Given the description of an element on the screen output the (x, y) to click on. 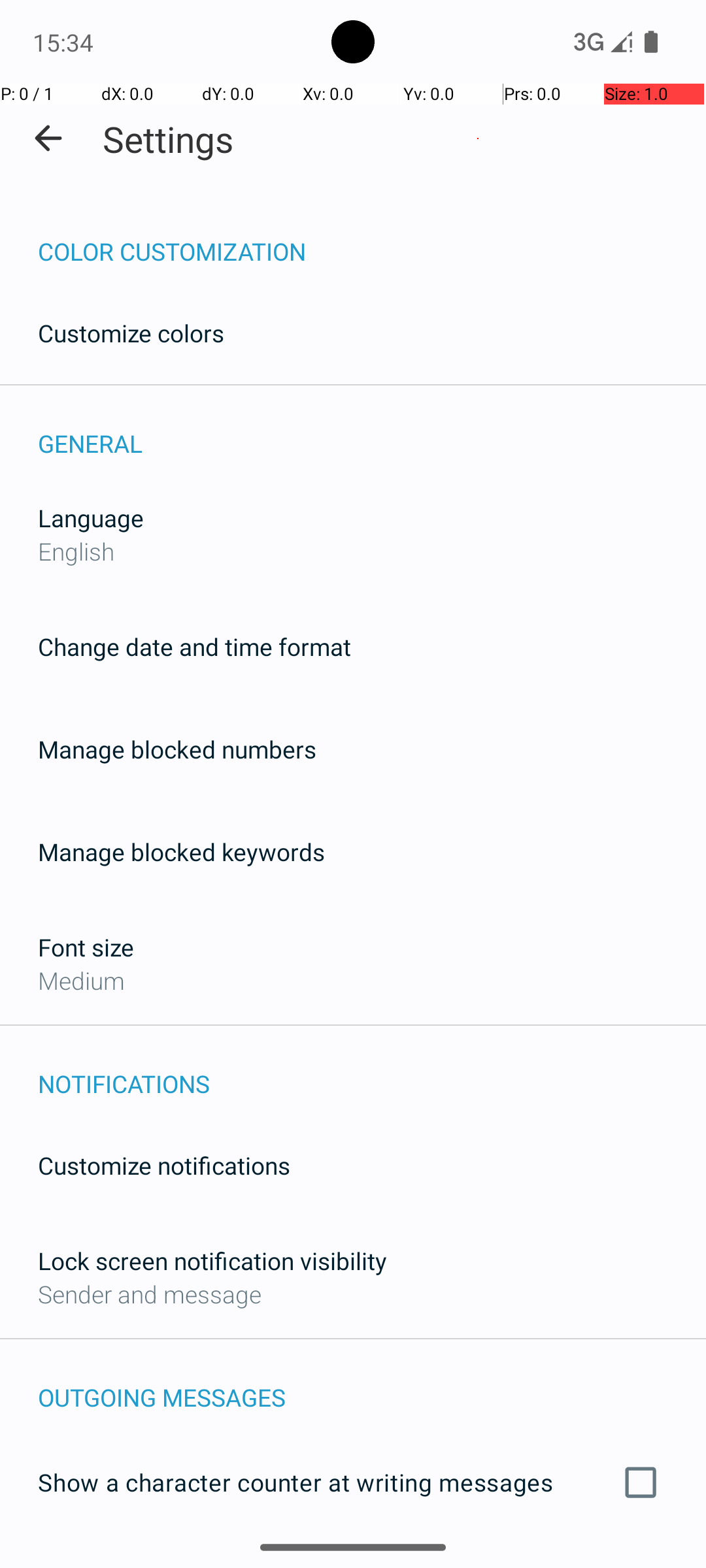
NOTIFICATIONS Element type: android.widget.TextView (371, 1069)
OUTGOING MESSAGES Element type: android.widget.TextView (371, 1383)
Change date and time format Element type: android.widget.TextView (194, 646)
Manage blocked numbers Element type: android.widget.TextView (176, 748)
Manage blocked keywords Element type: android.widget.TextView (180, 851)
Font size Element type: android.widget.TextView (85, 946)
Medium Element type: android.widget.TextView (80, 979)
Lock screen notification visibility Element type: android.widget.TextView (211, 1260)
Sender and message Element type: android.widget.TextView (149, 1293)
Show a character counter at writing messages Element type: android.widget.CheckBox (352, 1482)
Remove accents and diacritics at sending messages Element type: android.widget.CheckBox (352, 1559)
